Given the description of an element on the screen output the (x, y) to click on. 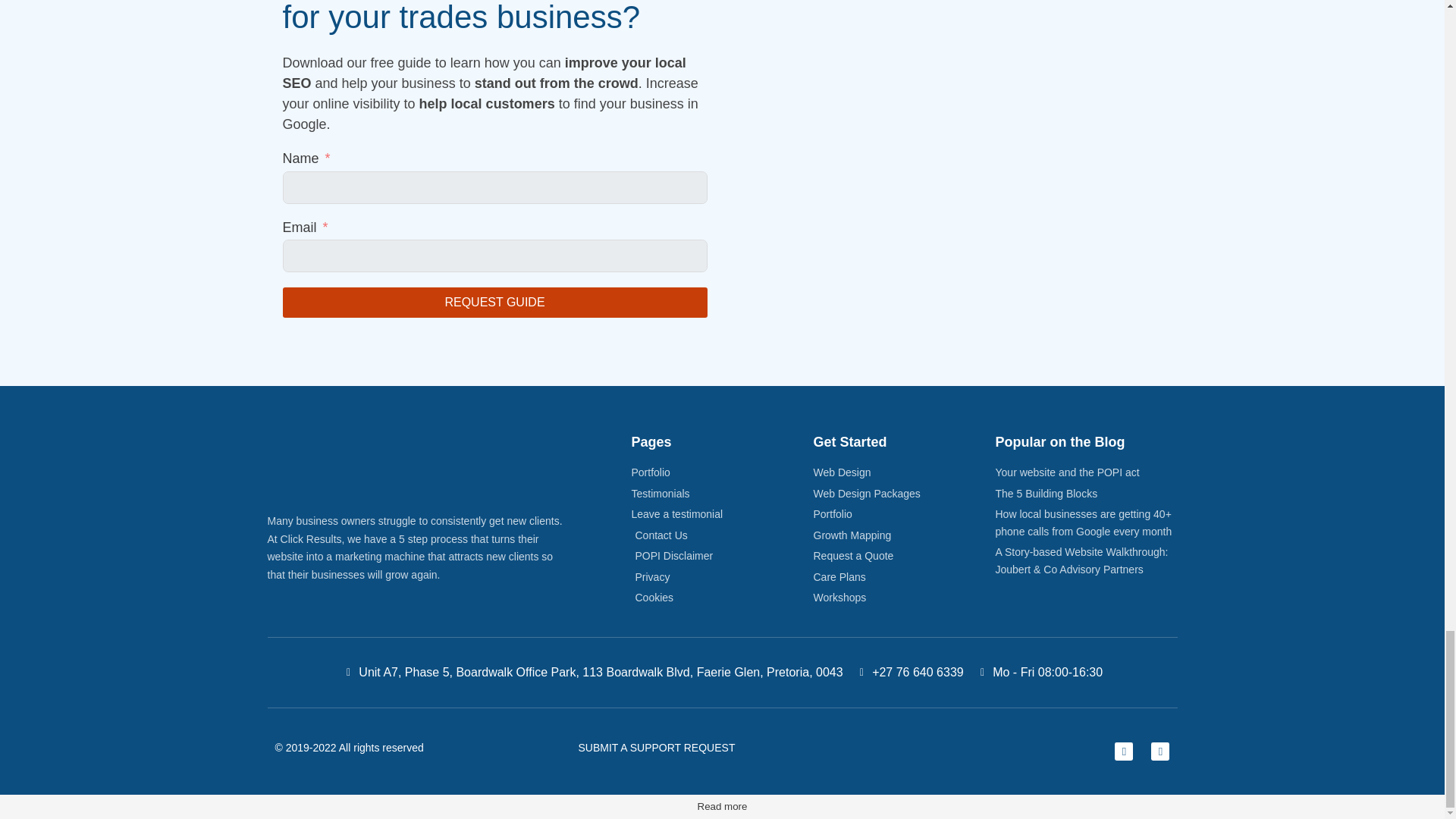
POPI Disclaimer (721, 556)
REQUEST GUIDE (494, 302)
Leave a testimonial (721, 514)
Cookies (721, 597)
Contact Us (721, 535)
Privacy (721, 577)
Testimonials (721, 493)
Web Design (903, 472)
Portfolio (721, 472)
